Given the description of an element on the screen output the (x, y) to click on. 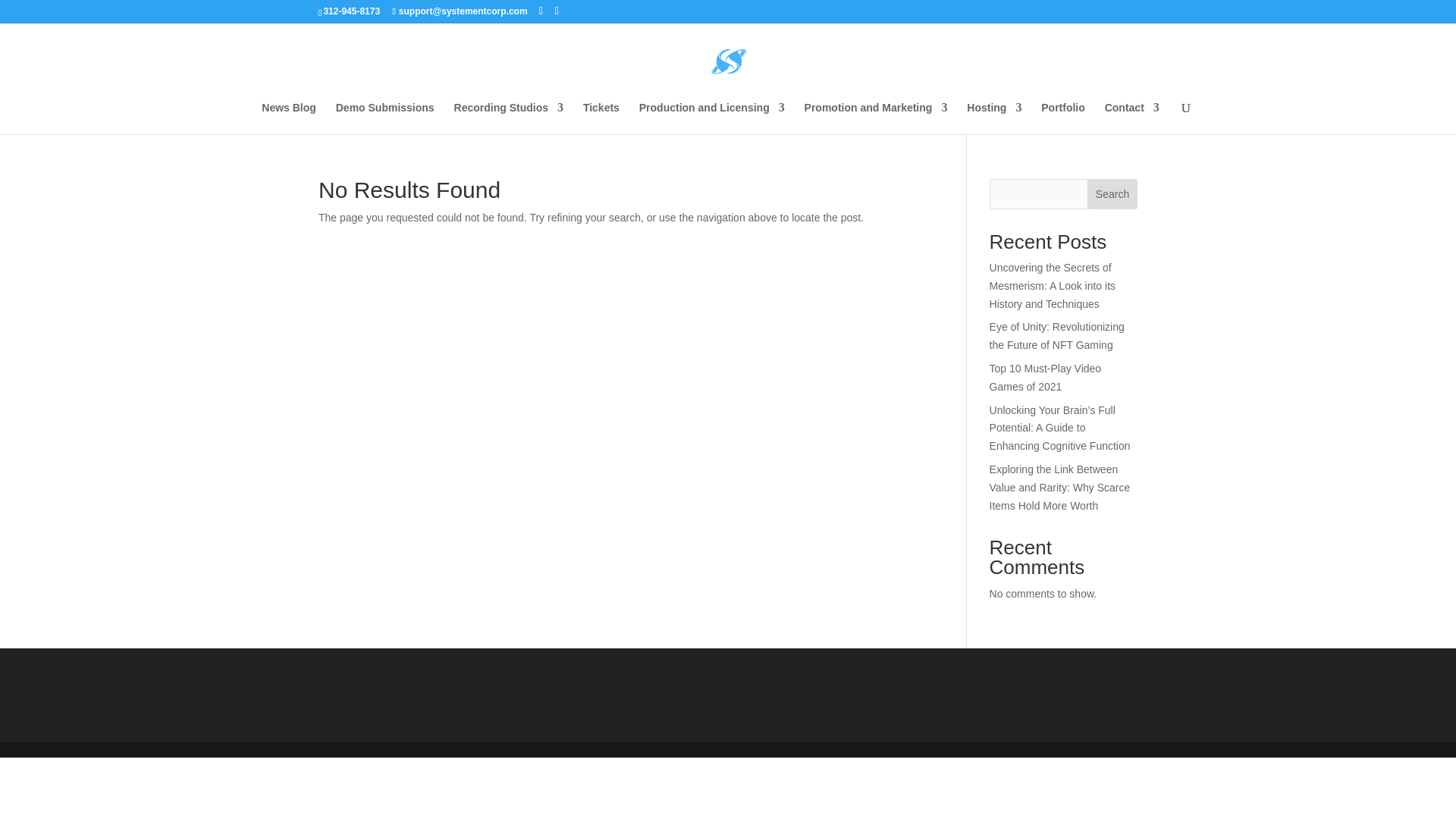
Demo Submissions (384, 118)
Recording Studios (508, 118)
Promotion and Marketing (876, 118)
Tickets (601, 118)
Contact (1131, 118)
Production and Licensing (711, 118)
News Blog (288, 118)
Portfolio (1062, 118)
Hosting (994, 118)
